Given the description of an element on the screen output the (x, y) to click on. 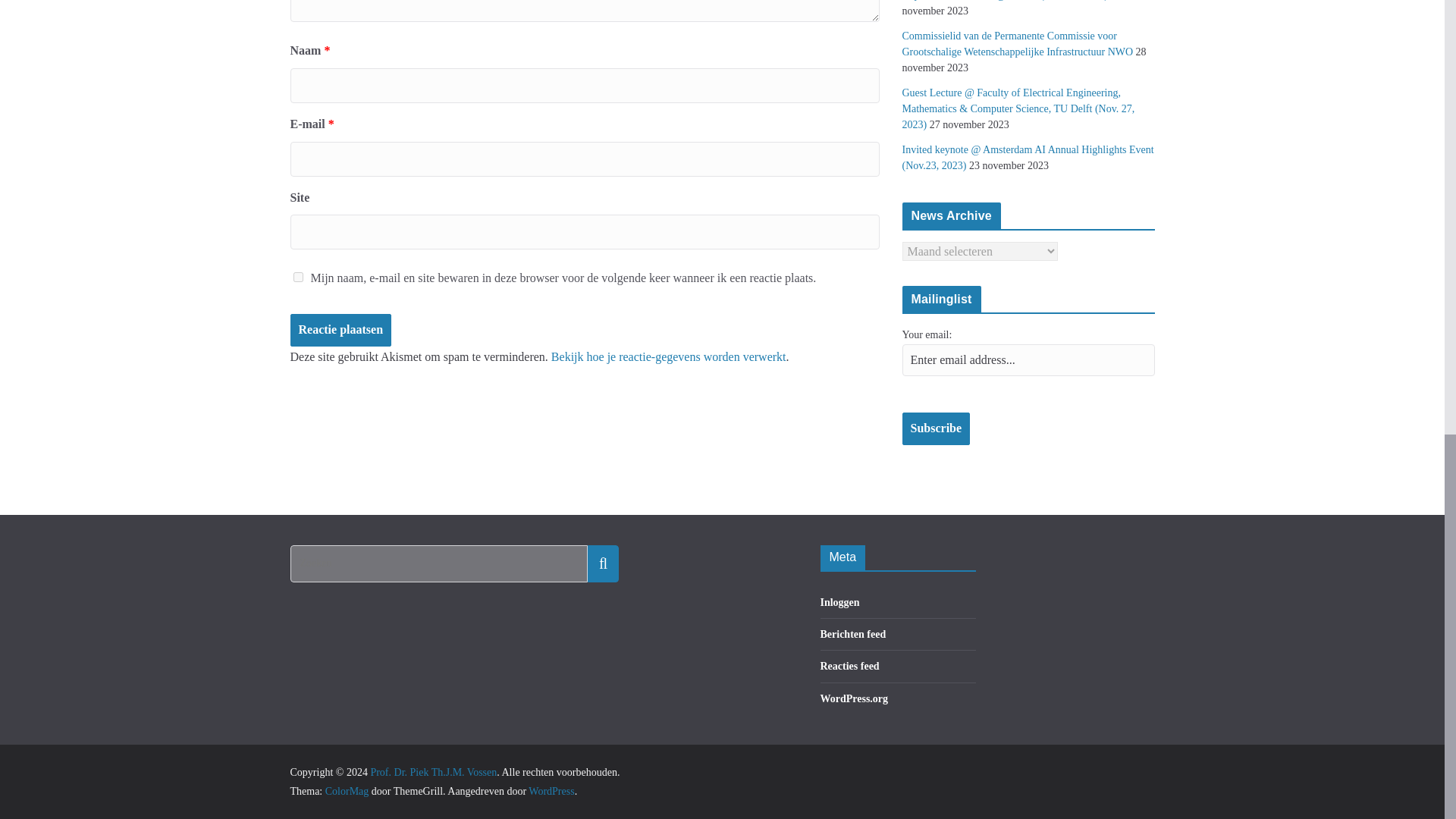
Subscribe (936, 428)
Bekijk hoe je reactie-gegevens worden verwerkt (668, 356)
yes (297, 276)
ColorMag (346, 790)
Reactie plaatsen (340, 329)
Enter email address... (1028, 359)
Reactie plaatsen (340, 329)
WordPress (550, 790)
Prof. Dr. Piek Th.J.M. Vossen (432, 772)
